Given the description of an element on the screen output the (x, y) to click on. 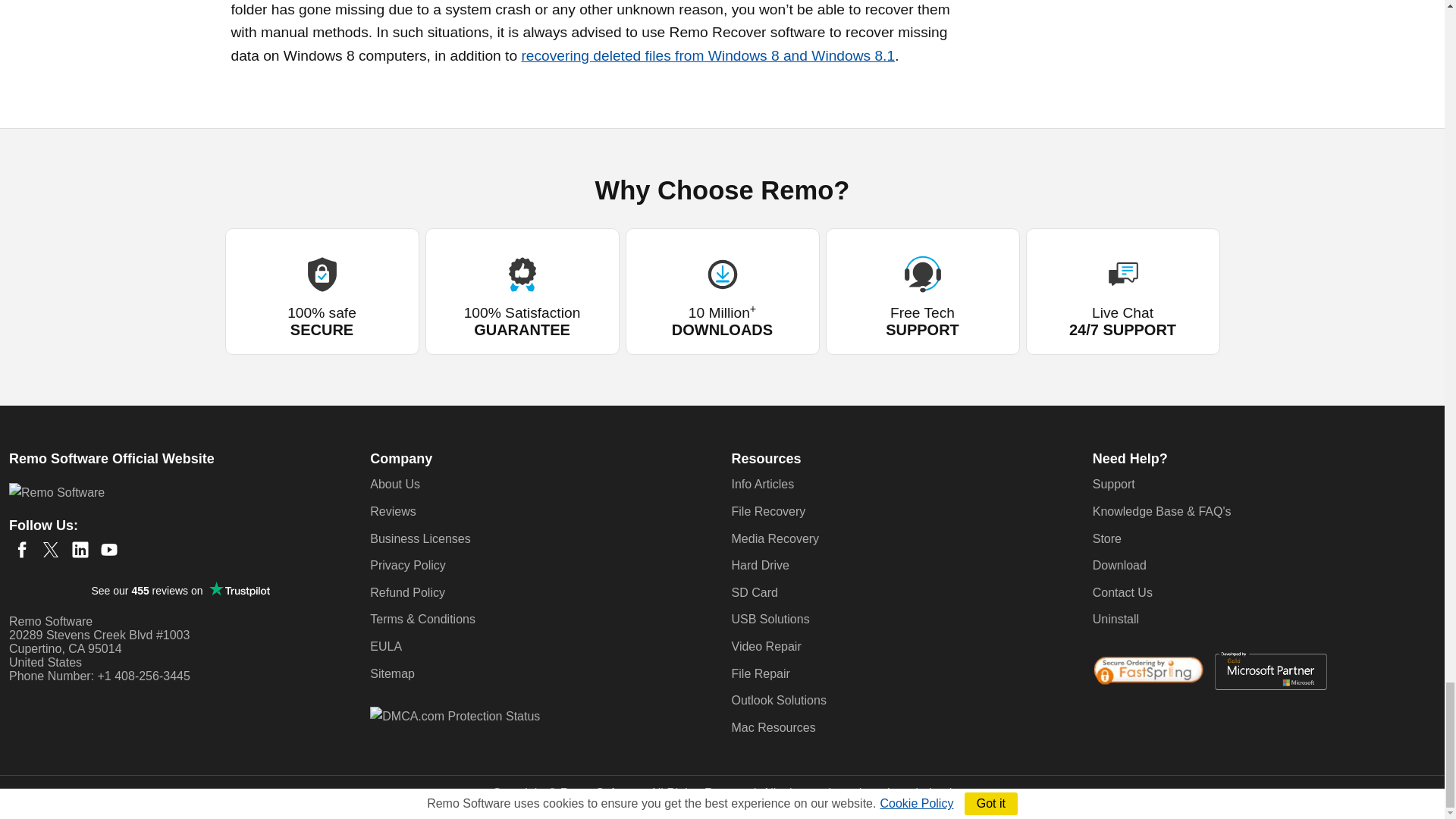
DMCA.com Protection Status (454, 715)
About Us (394, 483)
recovering deleted files from Windows 8 and Windows 8.1 (708, 55)
Customer reviews powered by Trustpilot (180, 590)
USB Solutions (769, 618)
Business Licenses (419, 538)
Refund Policy (407, 592)
File Recovery (767, 511)
SD Card (753, 592)
Resources (765, 458)
EULA (385, 645)
Media Recovery (774, 538)
Info Articles (761, 483)
Hard Drive (759, 564)
Sitemap (391, 673)
